Given the description of an element on the screen output the (x, y) to click on. 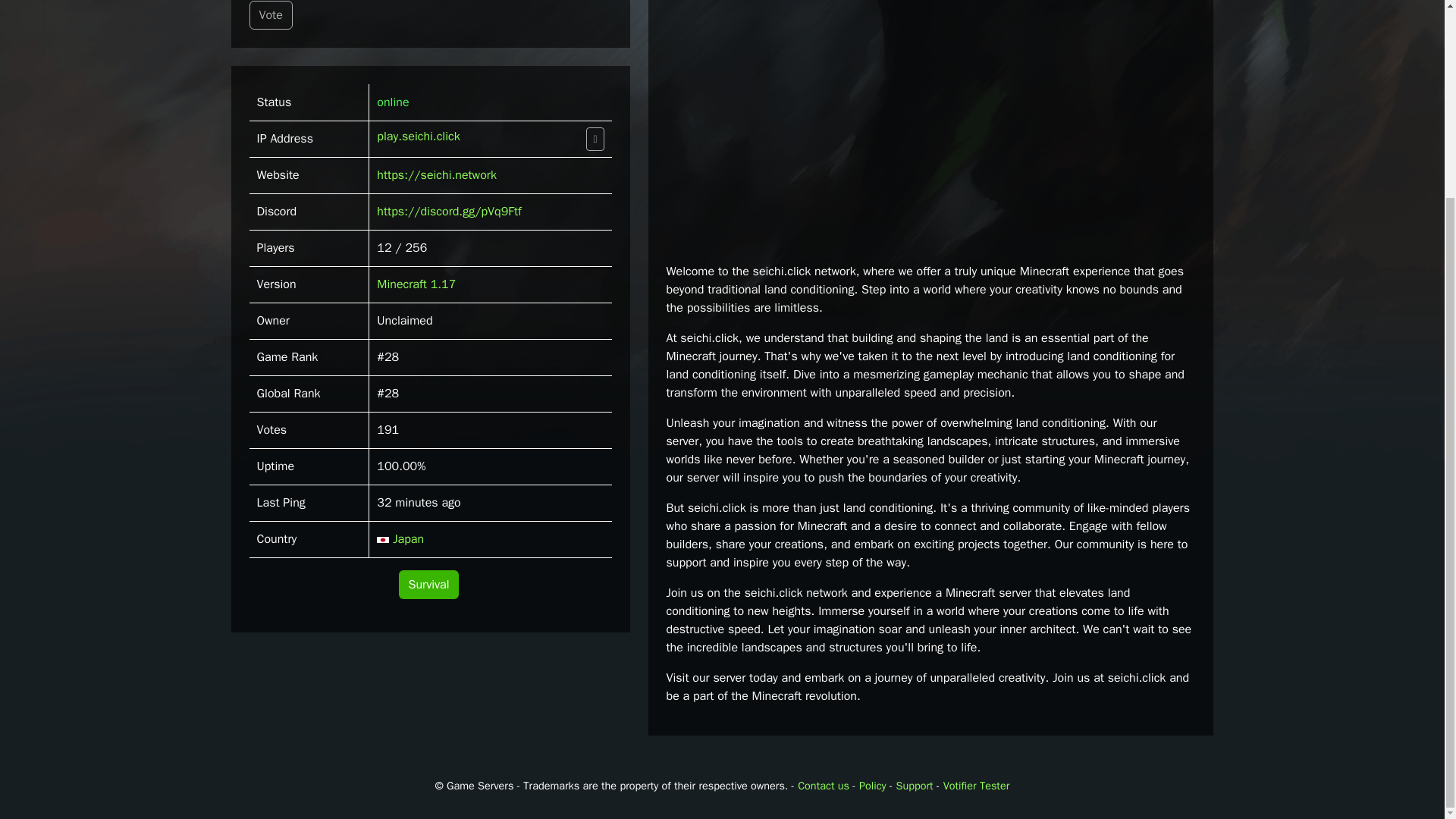
Votifier Tester (976, 785)
Vote (270, 14)
Japan (400, 539)
Minecraft 1.17 (416, 283)
Support (914, 785)
Policy (872, 785)
Survival (429, 584)
Contact us (822, 785)
